Given the description of an element on the screen output the (x, y) to click on. 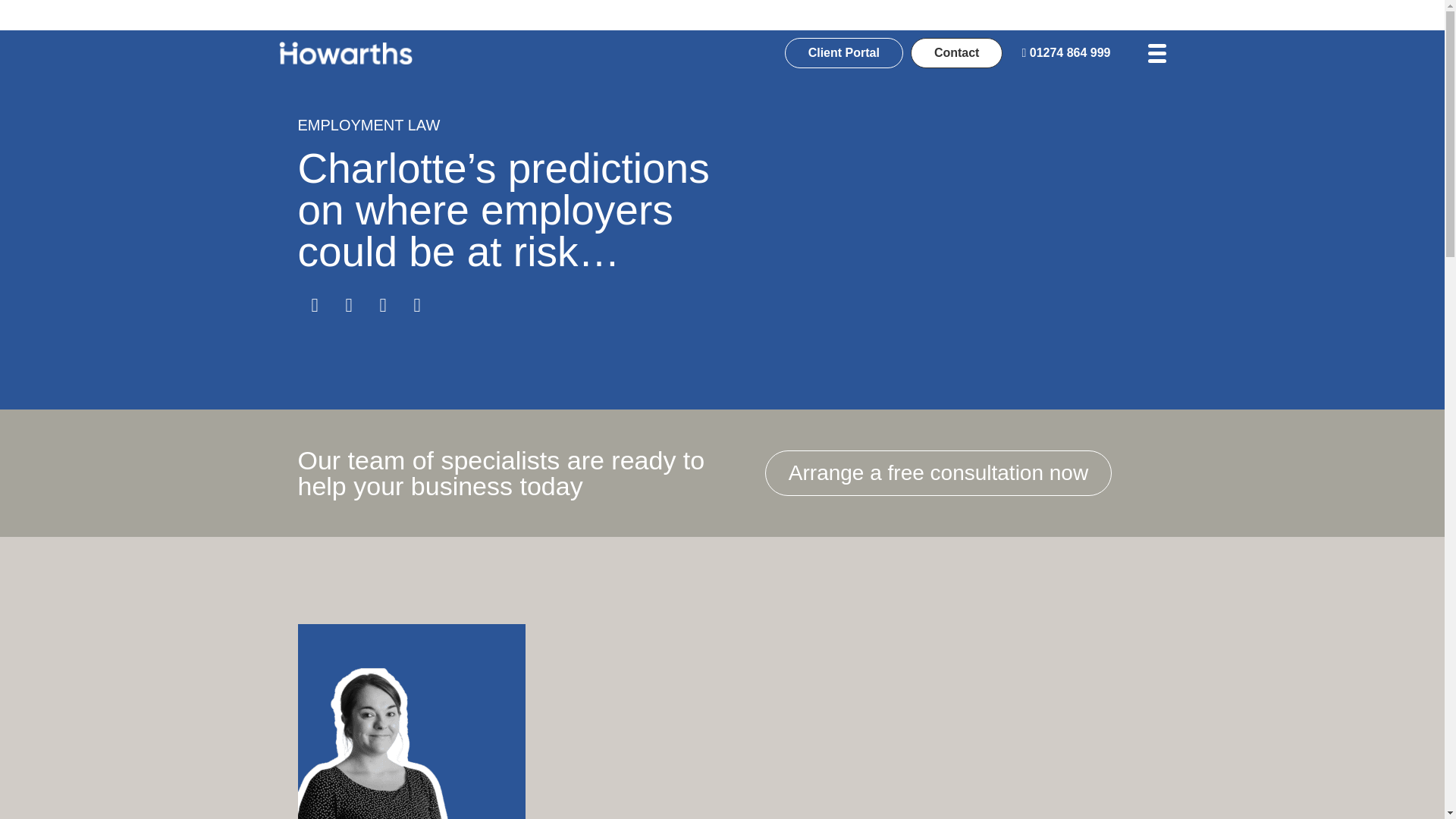
Contact (957, 52)
Client Portal (843, 52)
01274 864 999 (1065, 52)
